Given the description of an element on the screen output the (x, y) to click on. 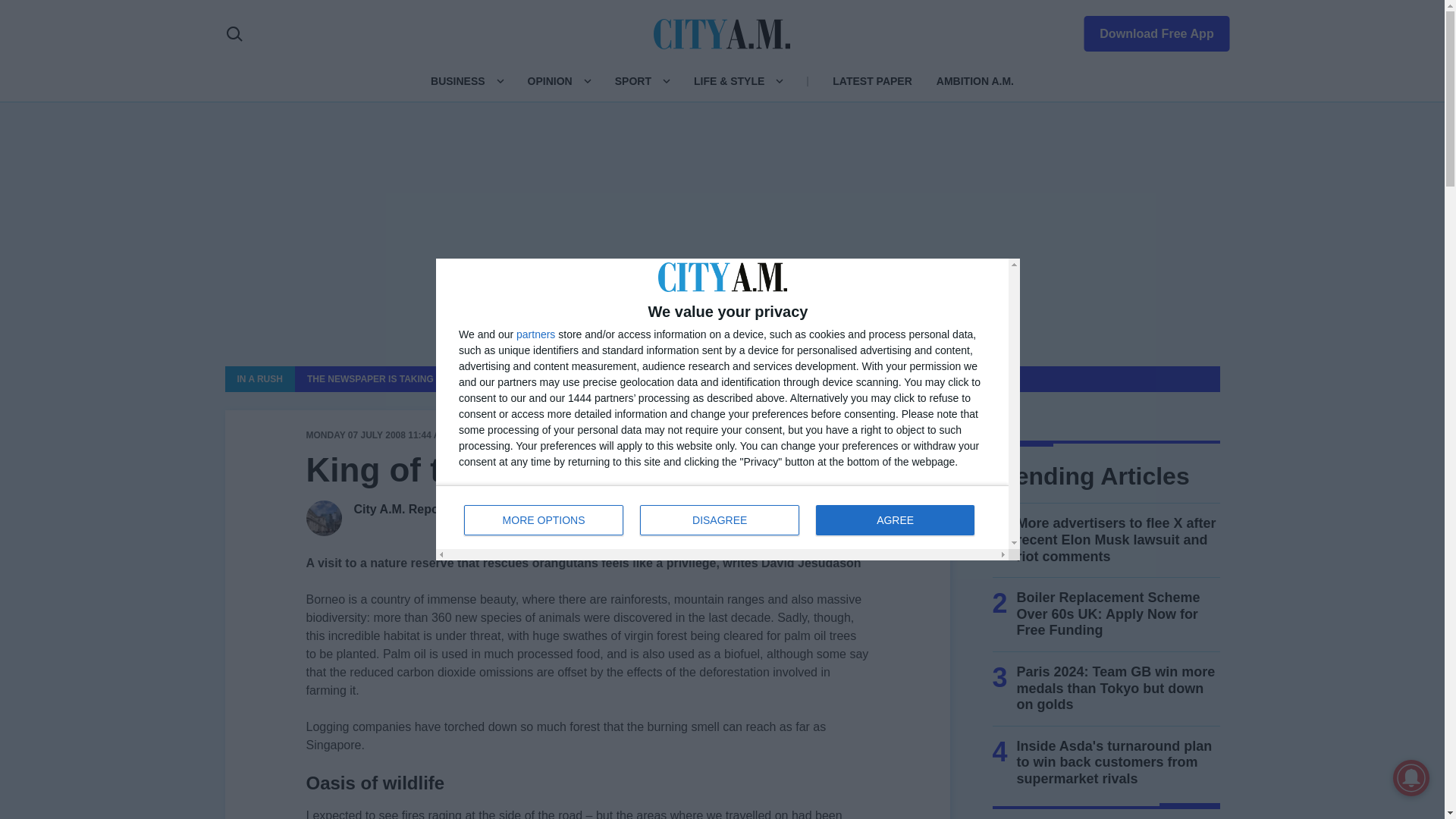
SPORT (632, 80)
partners (535, 334)
Download Free App (1146, 30)
BUSINESS (457, 80)
AGREE (894, 520)
MORE OPTIONS (543, 520)
DISAGREE (719, 520)
OPINION (549, 80)
CityAM (722, 516)
